Given the description of an element on the screen output the (x, y) to click on. 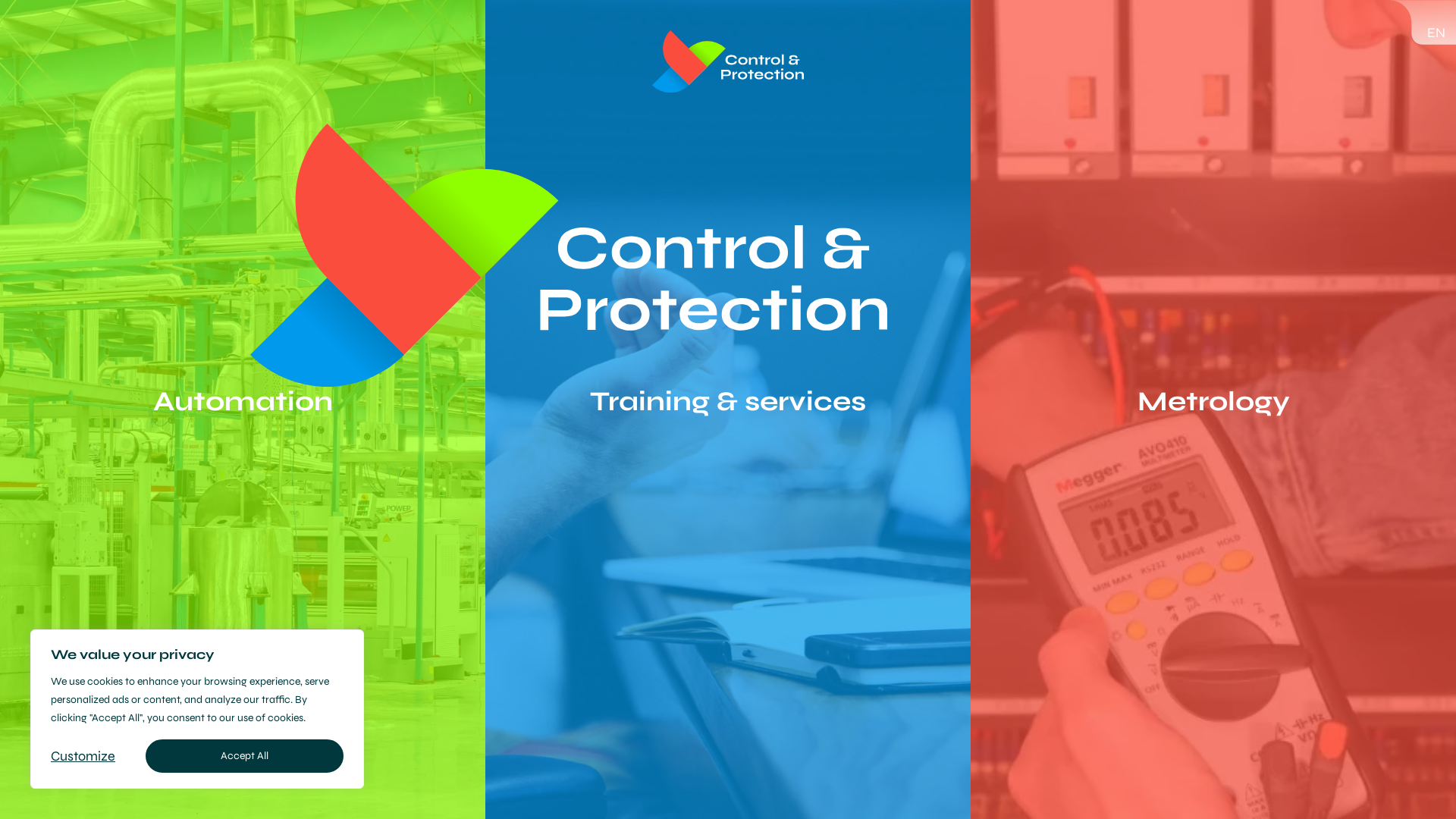
Control and protection Element type: hover (727, 61)
Customize Element type: text (82, 755)
Accept All Element type: text (244, 755)
Control and protection Element type: hover (568, 256)
